Given the description of an element on the screen output the (x, y) to click on. 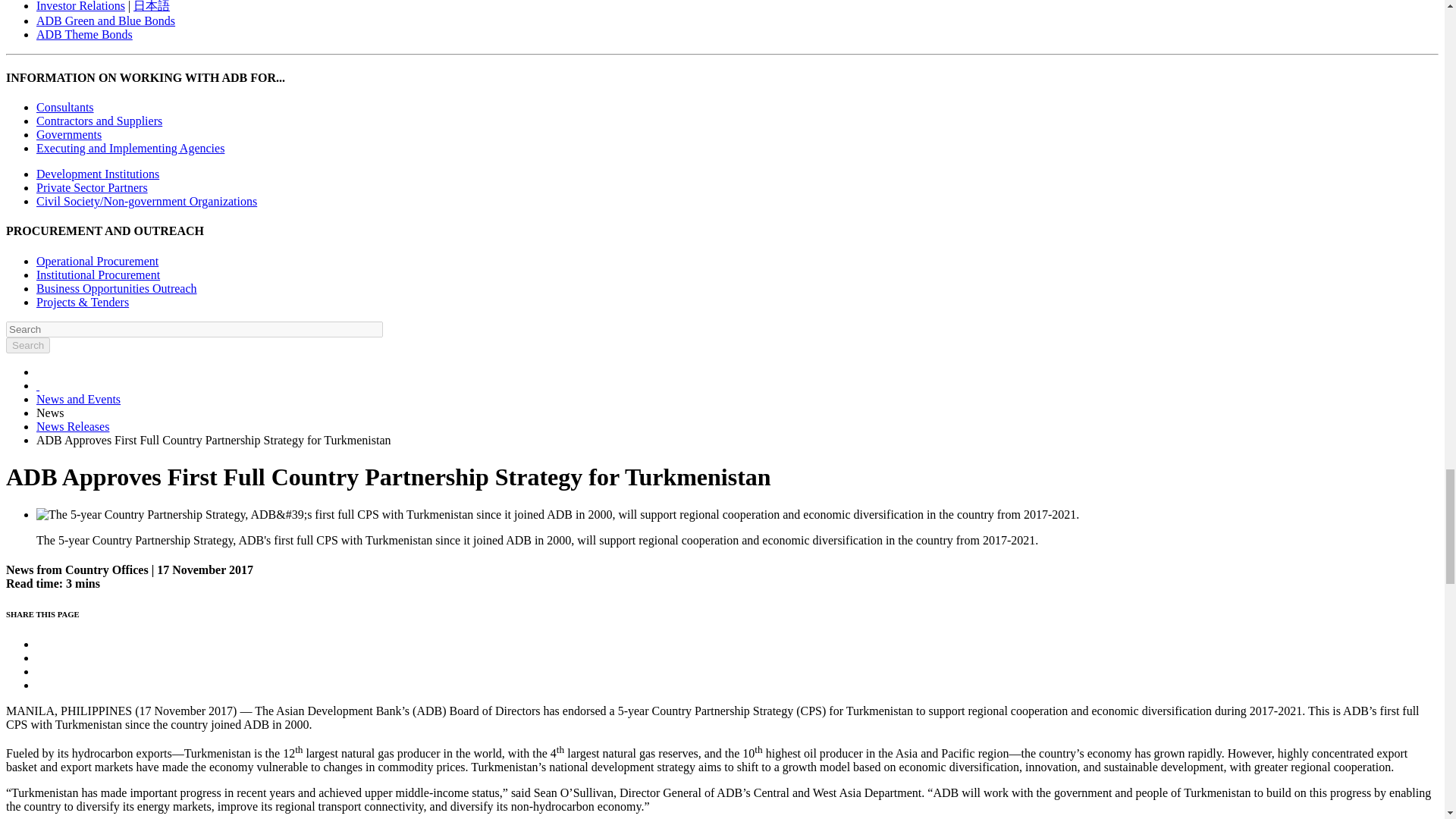
Search (27, 344)
Home (37, 385)
